Given the description of an element on the screen output the (x, y) to click on. 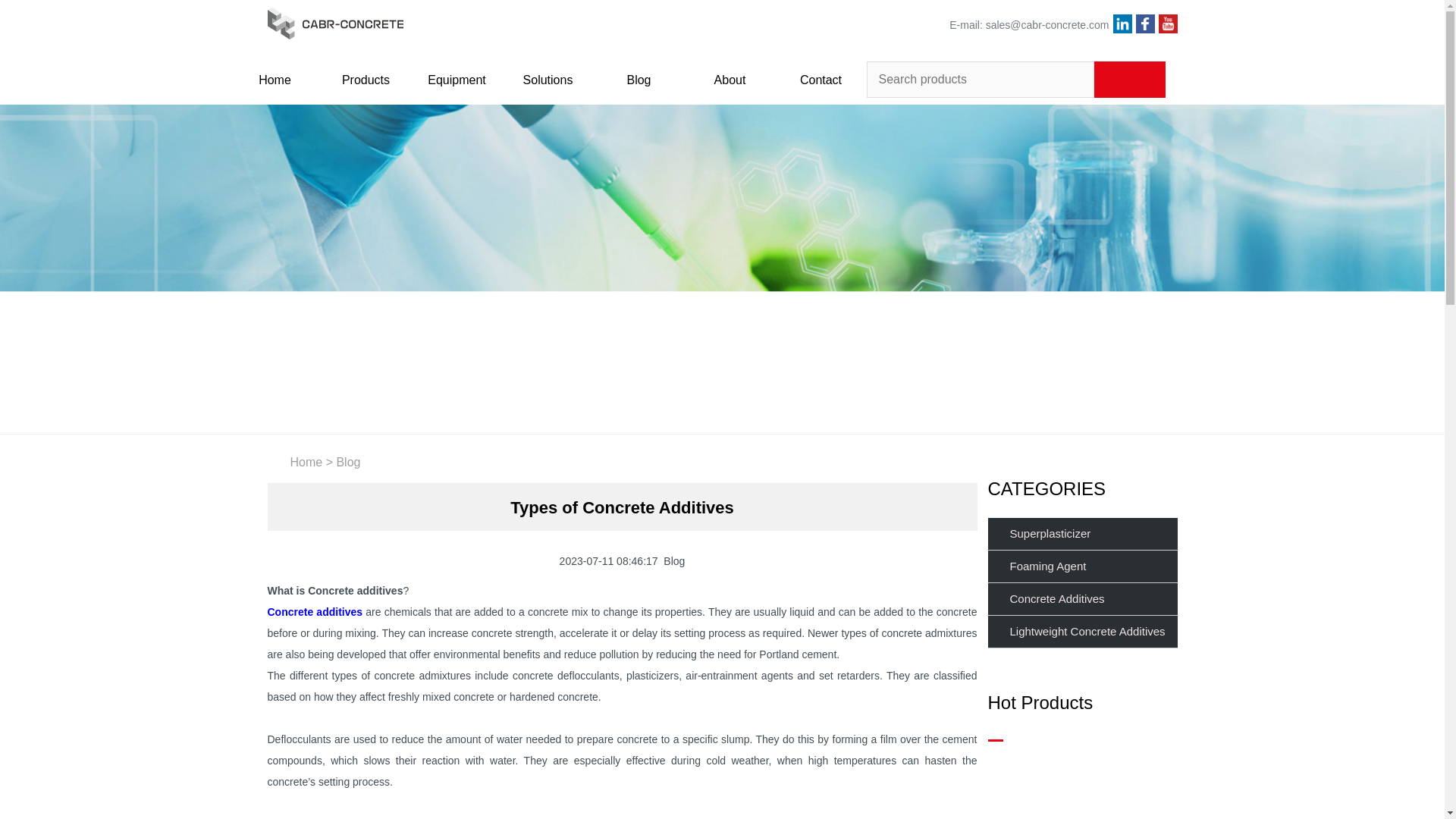
Concrete Additives (1081, 599)
About (729, 80)
Foaming agent (1081, 566)
Lightweight Concrete Additives (1081, 631)
Blog (638, 80)
Superplasticizer (1081, 533)
Home (305, 461)
Home (274, 80)
Blog (347, 461)
Concrete Additives (1081, 599)
Solutions (547, 80)
Products (365, 80)
Lightweight Concrete Additives (1081, 631)
Contact (820, 80)
Superplasticizer (1081, 533)
